Given the description of an element on the screen output the (x, y) to click on. 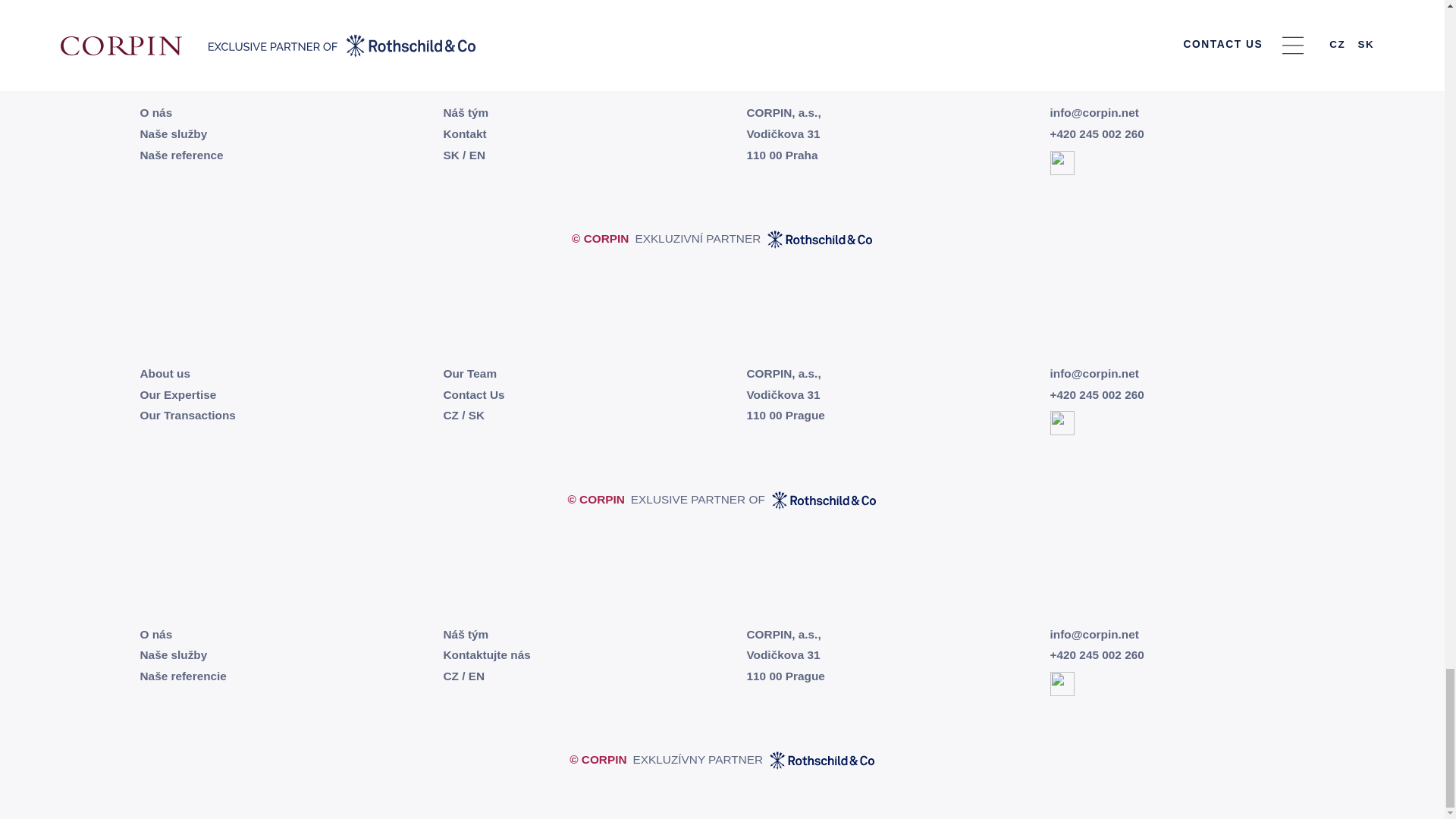
About us (164, 373)
SK (476, 414)
Our Transactions (186, 414)
SK (450, 154)
Our Expertise (177, 394)
EN (476, 154)
Kontakt (464, 133)
Our Team (469, 373)
CZ (450, 414)
Contact Us (472, 394)
